Given the description of an element on the screen output the (x, y) to click on. 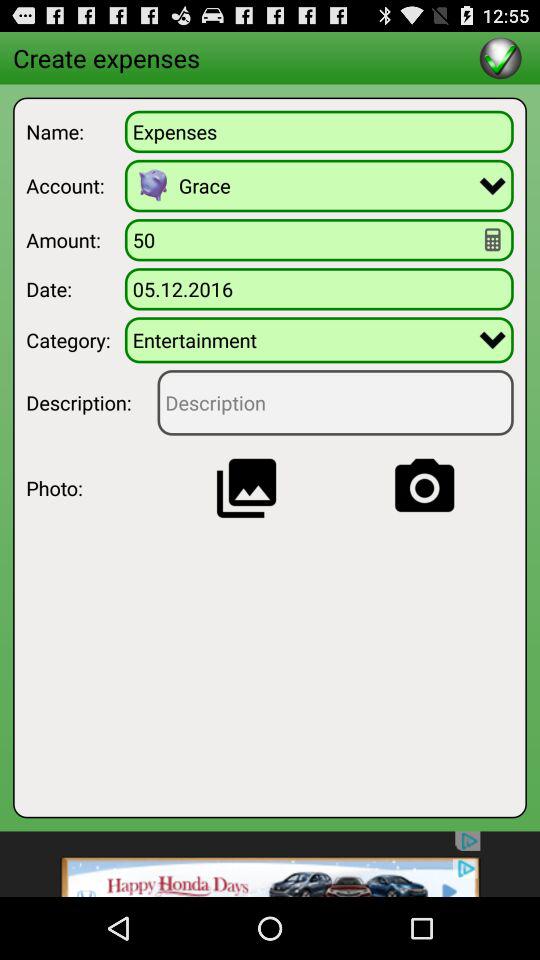
type description (335, 402)
